Given the description of an element on the screen output the (x, y) to click on. 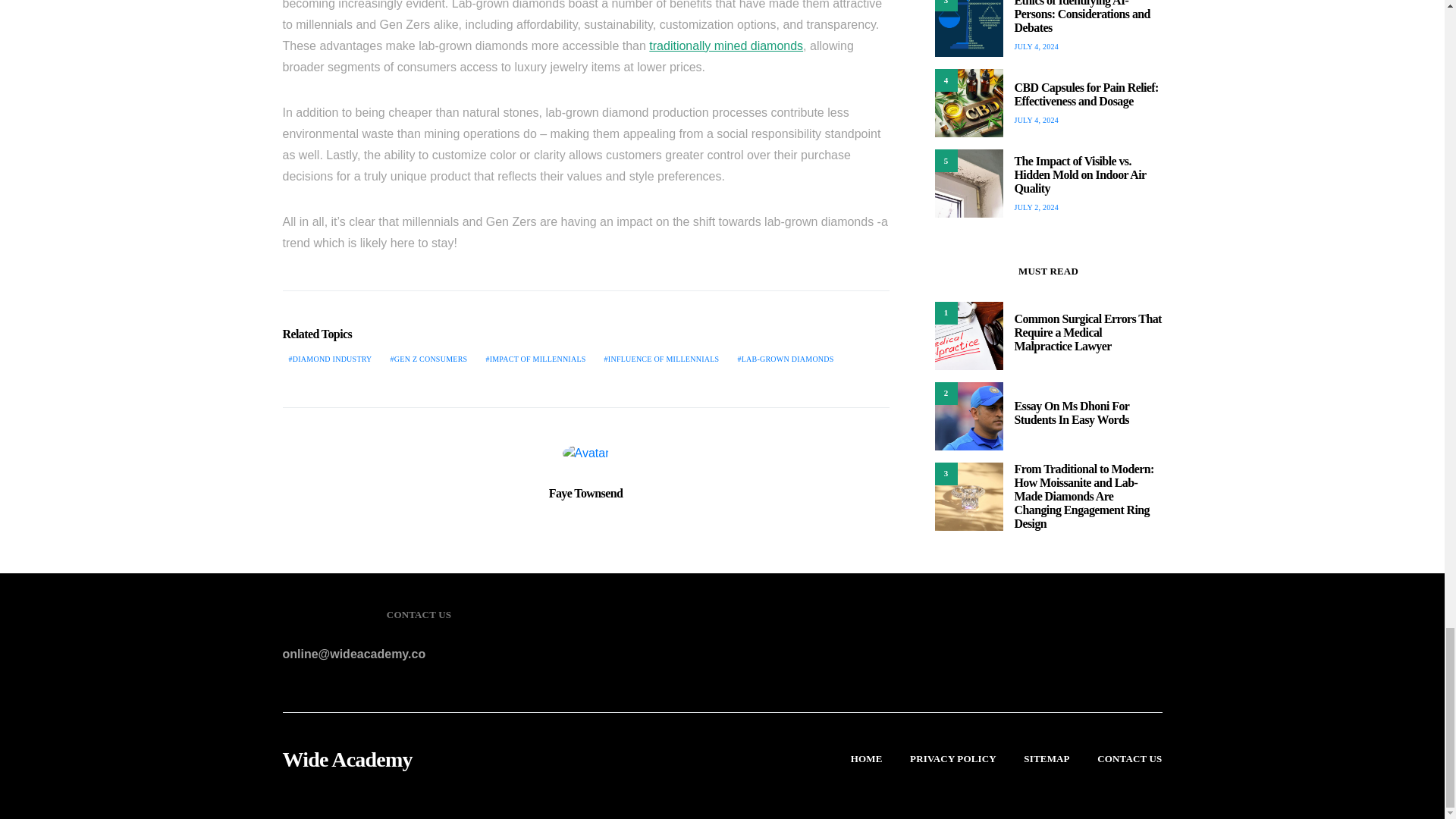
traditionally mined diamonds (726, 45)
Faye Townsend (585, 492)
IMPACT OF MILLENNIALS (535, 358)
LAB-GROWN DIAMONDS (785, 358)
INFLUENCE OF MILLENNIALS (661, 358)
GEN Z CONSUMERS (429, 358)
DIAMOND INDUSTRY (329, 358)
